Given the description of an element on the screen output the (x, y) to click on. 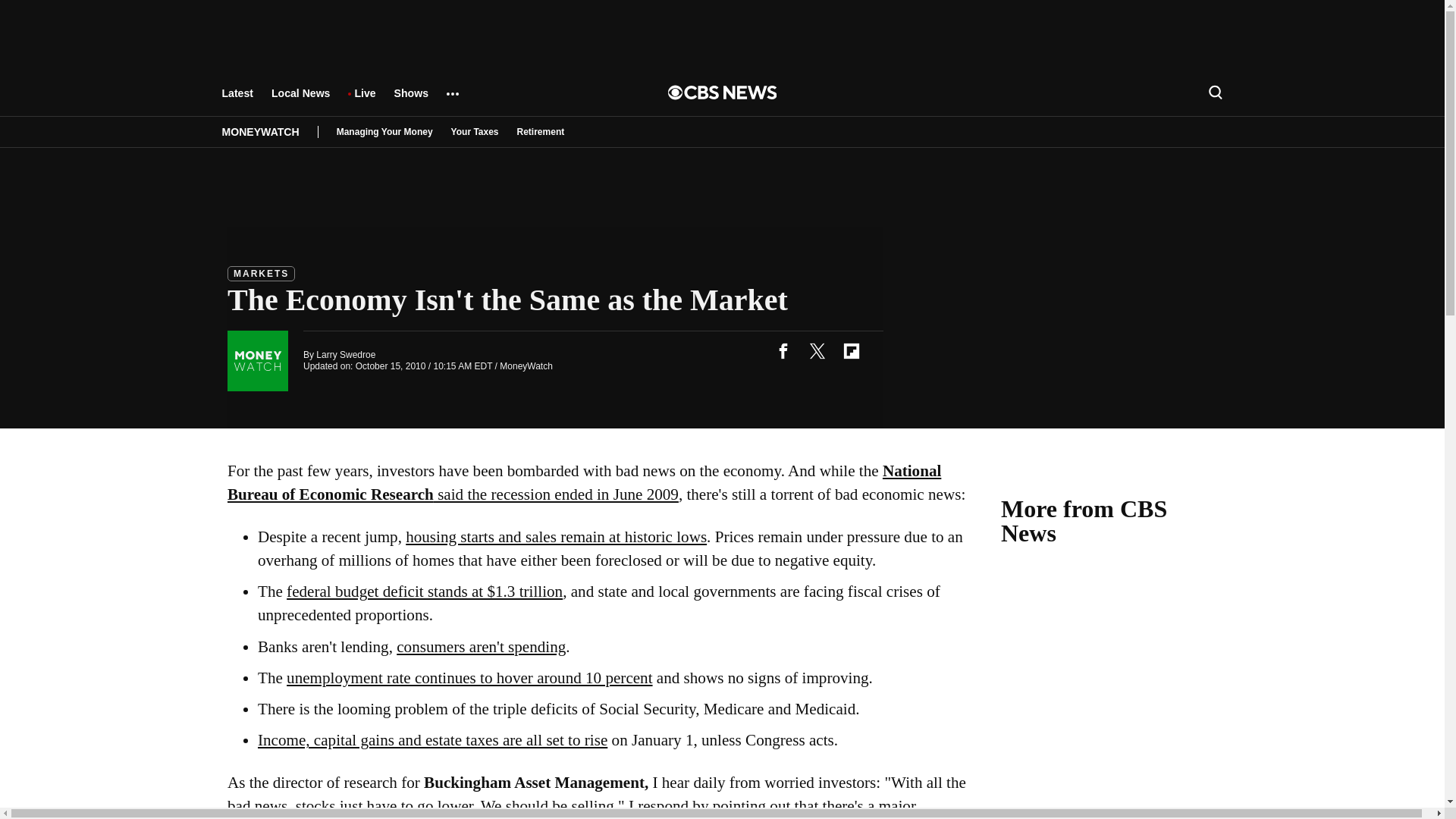
facebook (782, 350)
twitter (816, 350)
Latest (236, 100)
Local News (300, 100)
U.S. Payrolls Fall 95,000, Jobless Rate at 9.6 Percent (469, 678)
Slump Over, Pain Persists (583, 482)
flipboard (850, 350)
Congress Punts on Taxes (432, 740)
Personal Income Outstrips Spending in August (481, 647)
Housing Starts in U.S. Increase More Than Forecast in August (556, 536)
3rd party ad content (1114, 708)
